Given the description of an element on the screen output the (x, y) to click on. 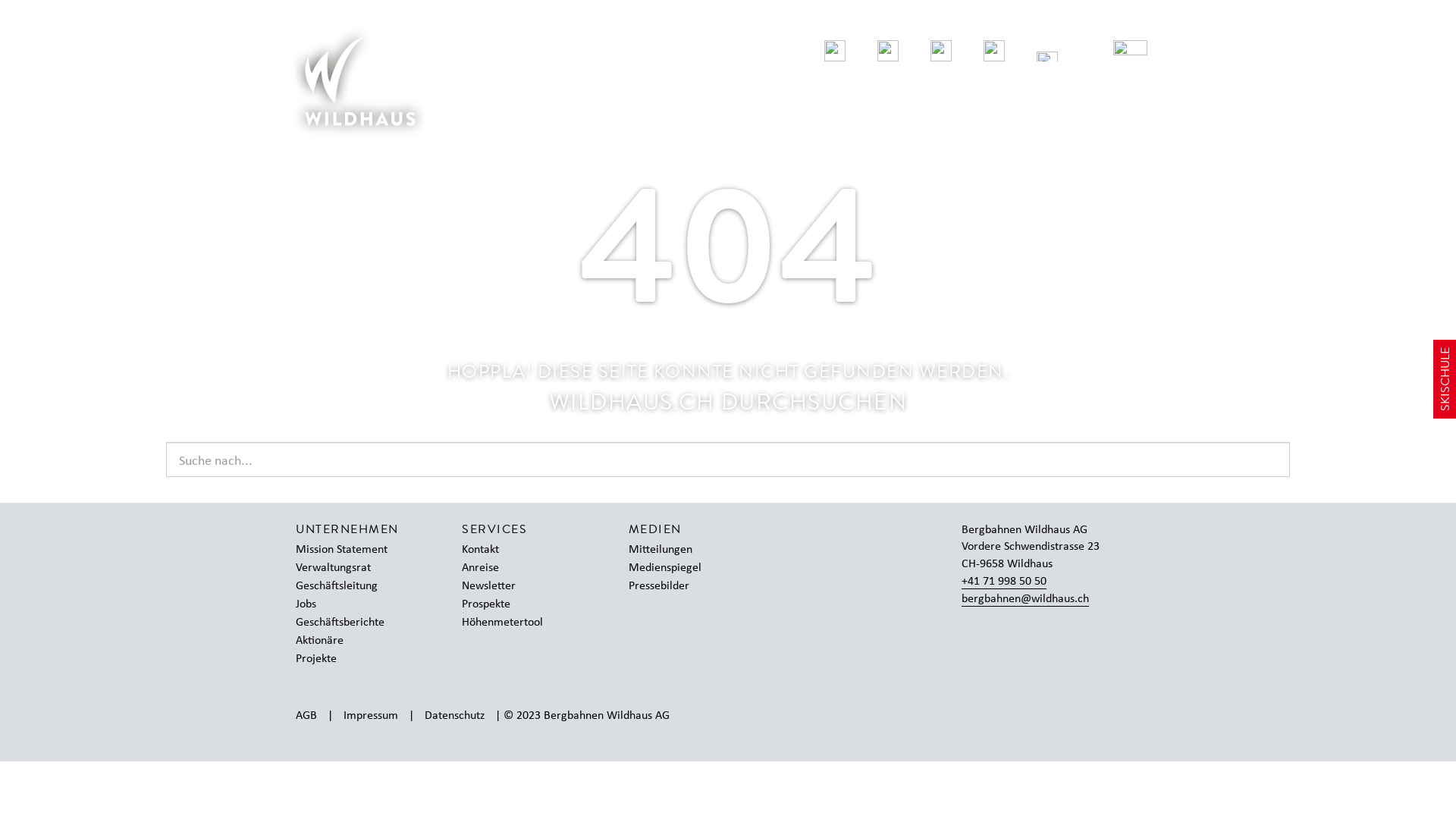
MEDIEN Element type: text (654, 529)
Anreise Element type: text (487, 566)
SERVICES Element type: text (494, 529)
Prospekte Element type: text (493, 603)
Datenschutz Element type: text (454, 714)
Newsletter Element type: text (495, 585)
+41 71 998 50 50 Element type: text (1003, 580)
Anlagen Element type: hover (887, 52)
Mission Statement Element type: text (348, 548)
Kontakt Element type: text (487, 548)
Suche Element type: hover (1046, 52)
Medienspiegel Element type: text (672, 566)
Webcam Element type: hover (781, 52)
AGB Element type: text (305, 714)
Mitteilungen Element type: text (667, 548)
Jobs Element type: text (313, 603)
Pressebilder Element type: text (666, 585)
Webshop Element type: hover (940, 52)
Wetter Element type: hover (834, 52)
bergbahnen@wildhaus.ch Element type: text (1024, 597)
Impressum Element type: text (370, 714)
Zimmer Buchen Element type: hover (993, 52)
Verwaltungsrat Element type: text (340, 566)
Projekte Element type: text (323, 657)
UNTERNEHMEN Element type: text (346, 529)
